Given the description of an element on the screen output the (x, y) to click on. 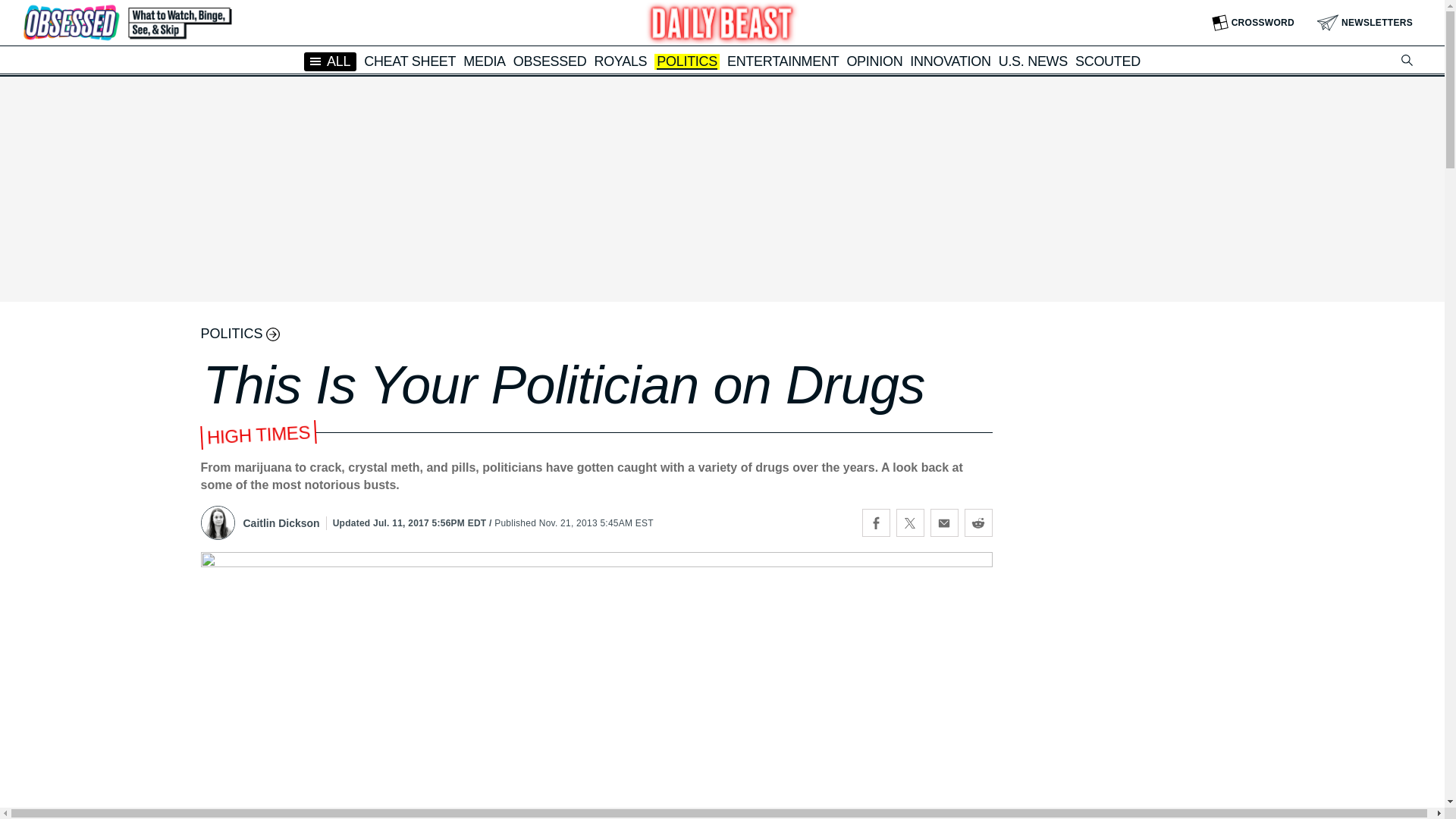
ALL (330, 60)
POLITICS (686, 61)
NEWSLETTERS (1364, 22)
OPINION (873, 60)
CHEAT SHEET (409, 60)
SCOUTED (1107, 60)
MEDIA (484, 60)
ROYALS (620, 60)
ENTERTAINMENT (782, 60)
CROSSWORD (1252, 22)
OBSESSED (549, 60)
INNOVATION (950, 60)
U.S. NEWS (1032, 60)
